Given the description of an element on the screen output the (x, y) to click on. 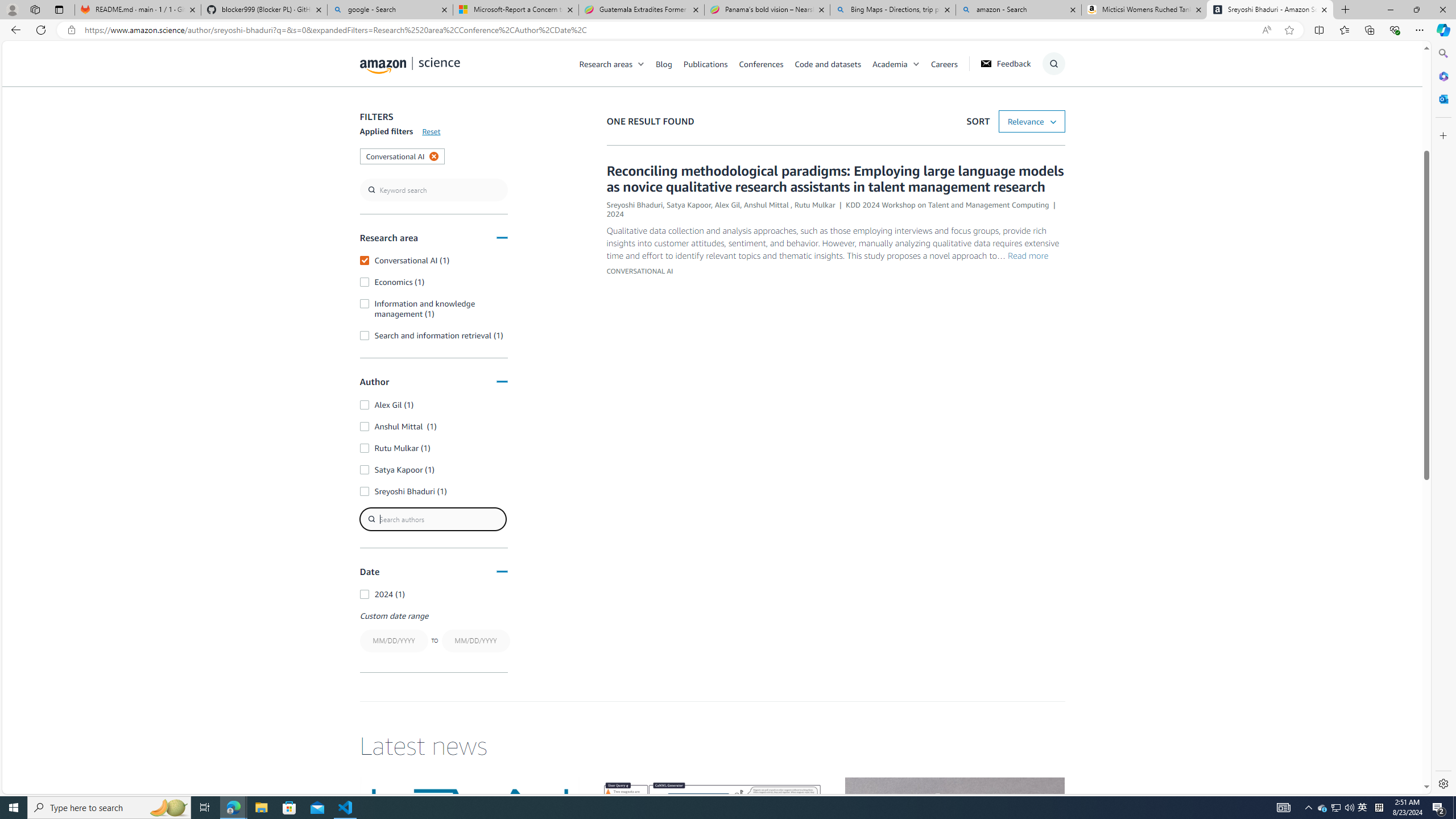
amazon-science-logo.svg (409, 65)
